Given the description of an element on the screen output the (x, y) to click on. 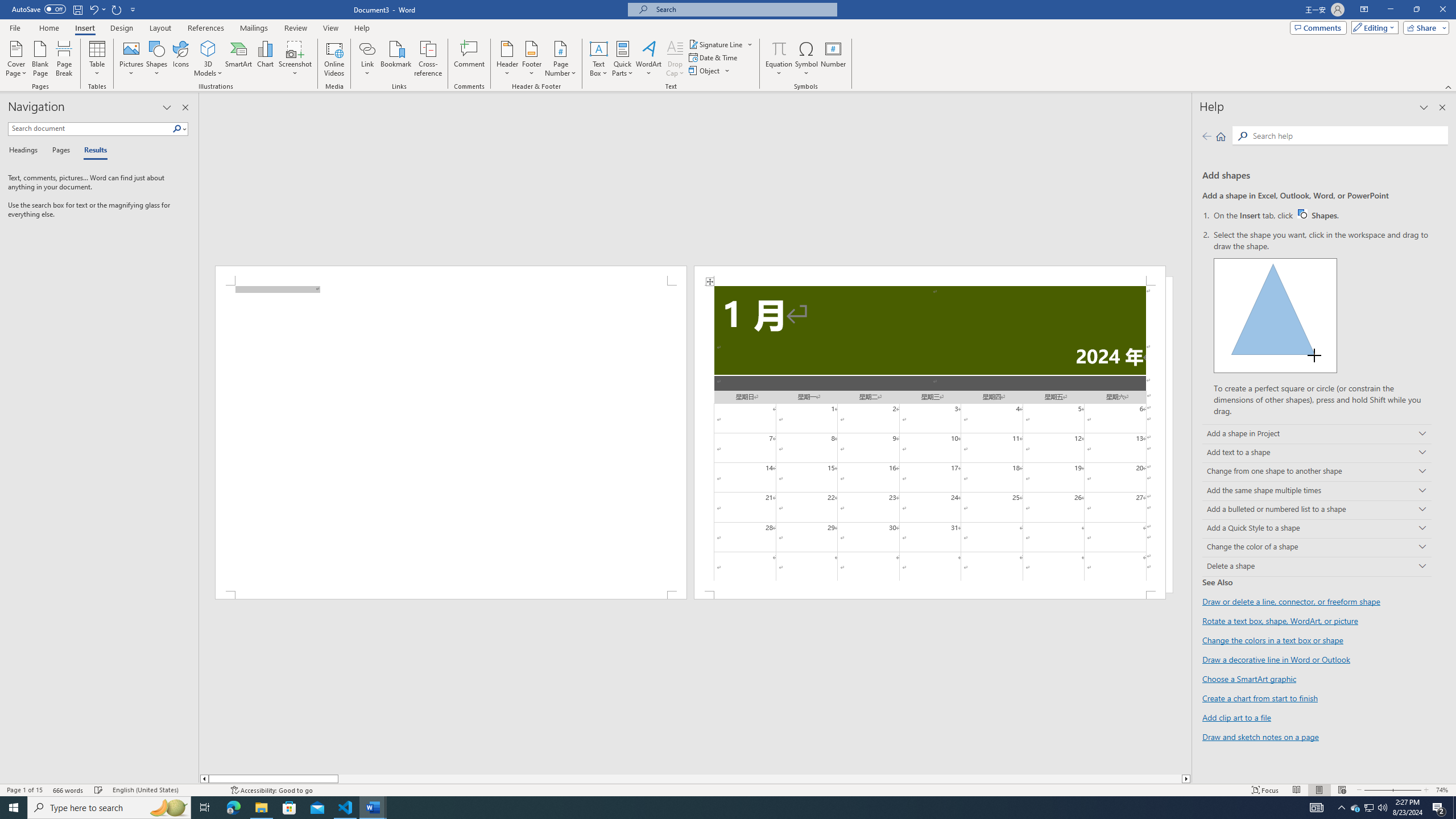
Zoom Out (1373, 790)
Object... (705, 69)
Review (295, 28)
Add clip art to a file (1236, 717)
Footer -Section 1- (930, 595)
Drawing a shape (1275, 315)
Page 2 content (930, 438)
Delete a shape (1316, 566)
Help (361, 28)
Column right (1186, 778)
Spelling and Grammar Check Checking (98, 790)
